Given the description of an element on the screen output the (x, y) to click on. 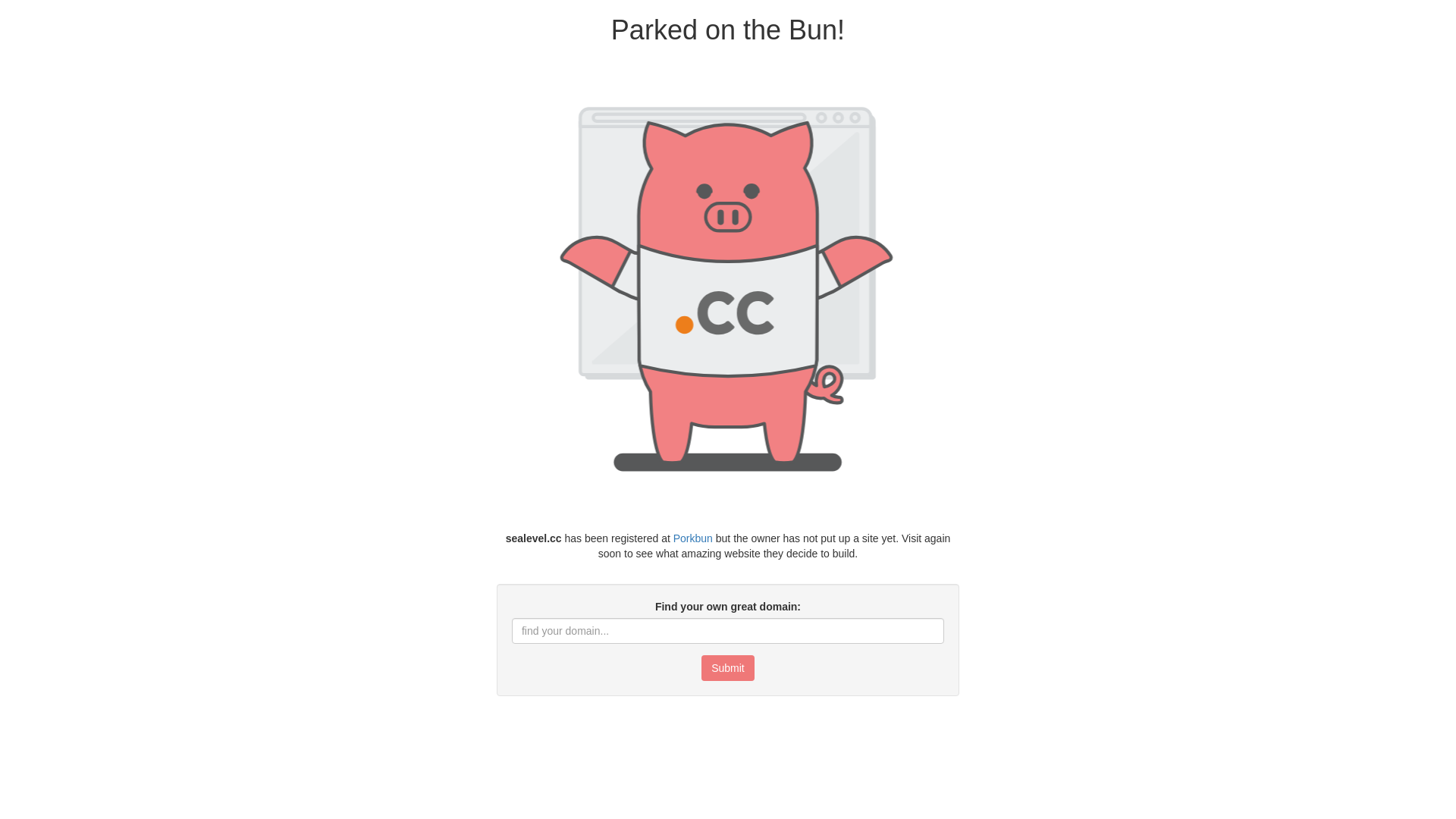
Porkbun Element type: text (692, 538)
Submit Element type: text (727, 667)
